Given the description of an element on the screen output the (x, y) to click on. 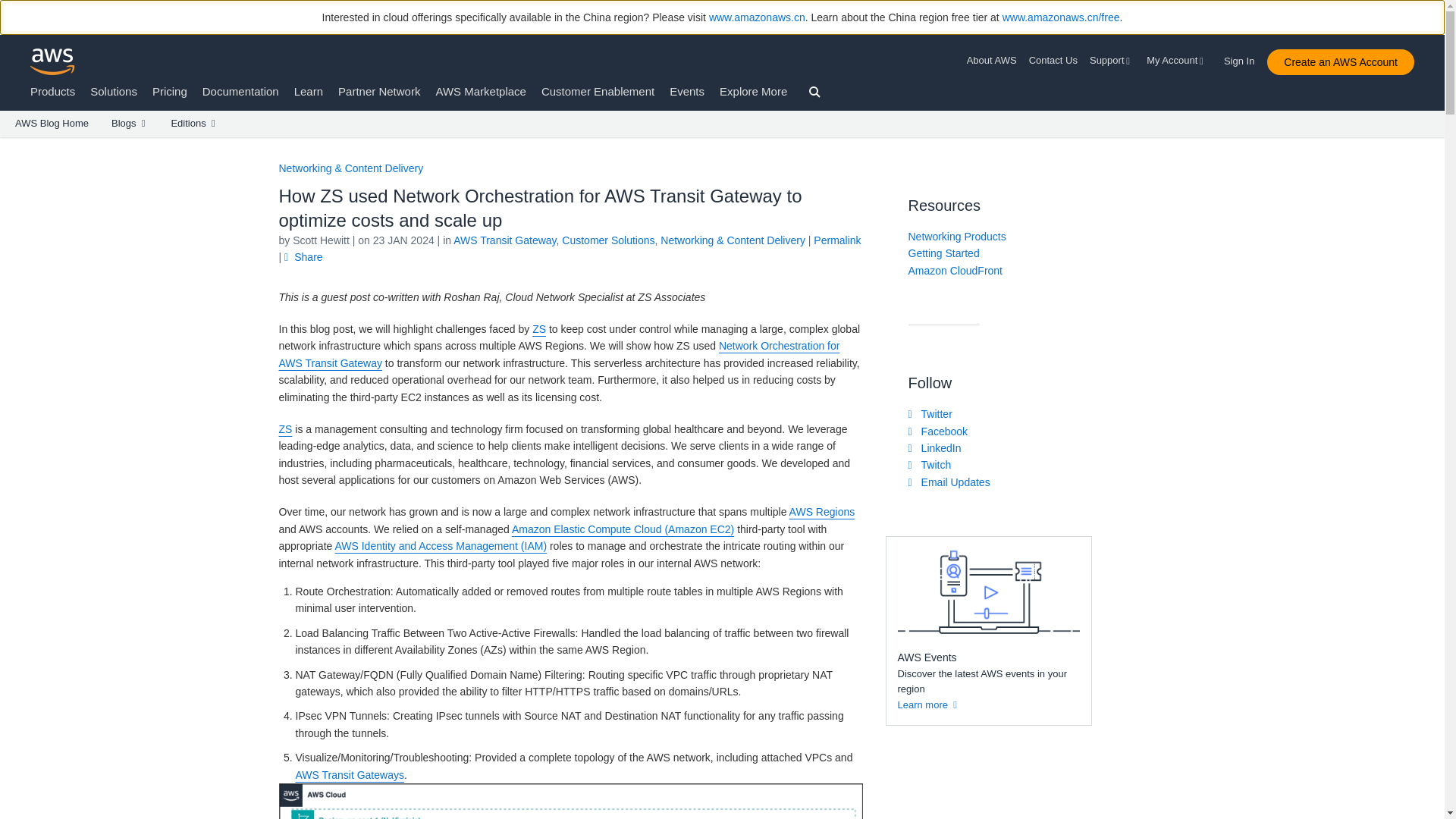
View all posts in AWS Transit Gateway (504, 240)
Events (686, 91)
Customer Enablement (597, 91)
Pricing (169, 91)
Products (52, 91)
www.amazonaws.cn (757, 17)
View all posts in Customer Solutions (607, 240)
Contact Us (1053, 60)
Sign In (1243, 58)
Partner Network (378, 91)
